Given the description of an element on the screen output the (x, y) to click on. 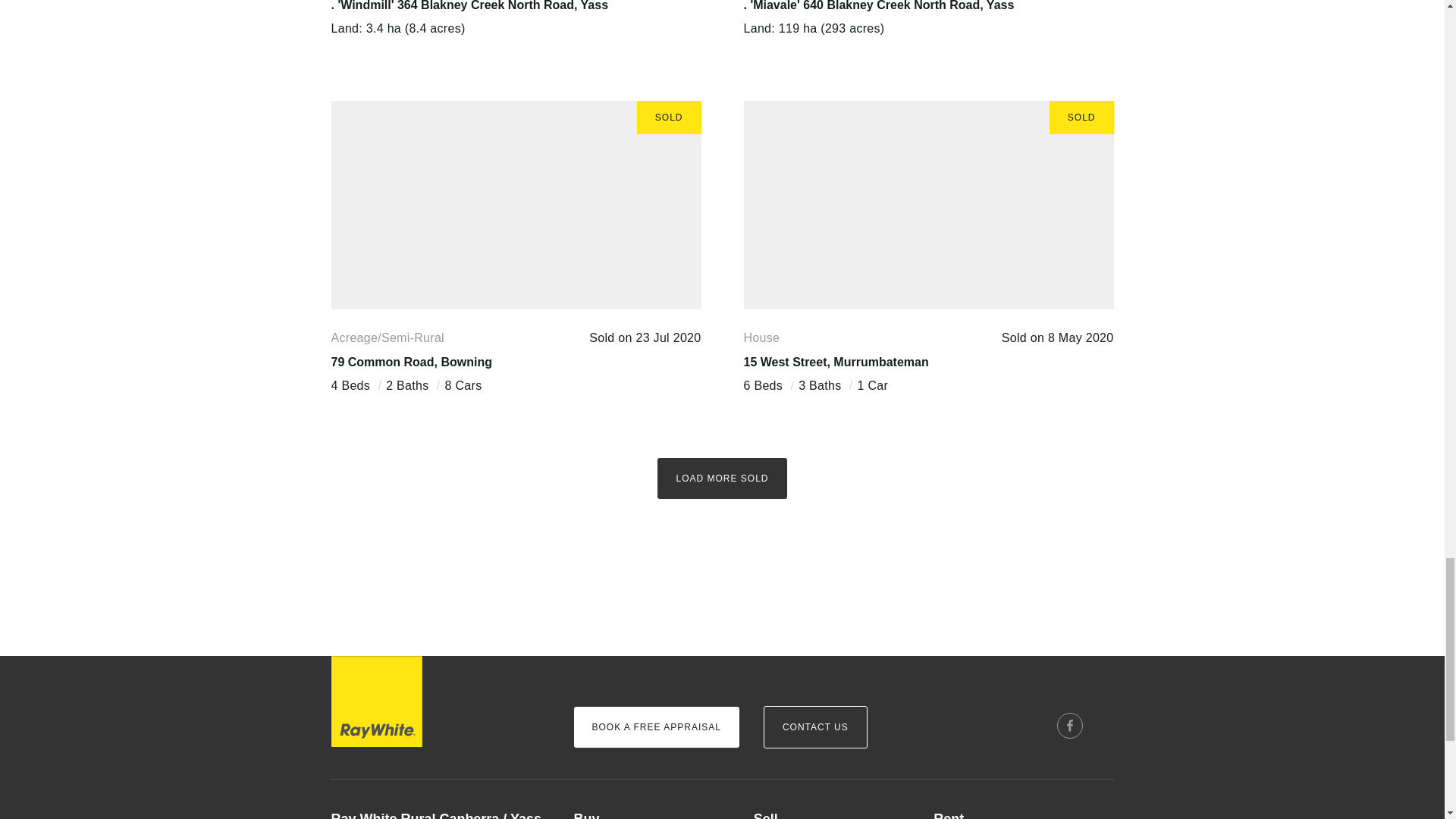
CONTACT US (814, 726)
. 'Windmill' 364 Blakney Creek North Road, Yass (469, 5)
Facebook (1070, 725)
79 Common Road, Bowning (411, 361)
LOAD MORE SOLD (722, 477)
SOLD (515, 204)
BOOK A FREE APPRAISAL (655, 726)
Ray White (376, 701)
SOLD (927, 204)
15 West Street, Murrumbateman (835, 361)
